Given the description of an element on the screen output the (x, y) to click on. 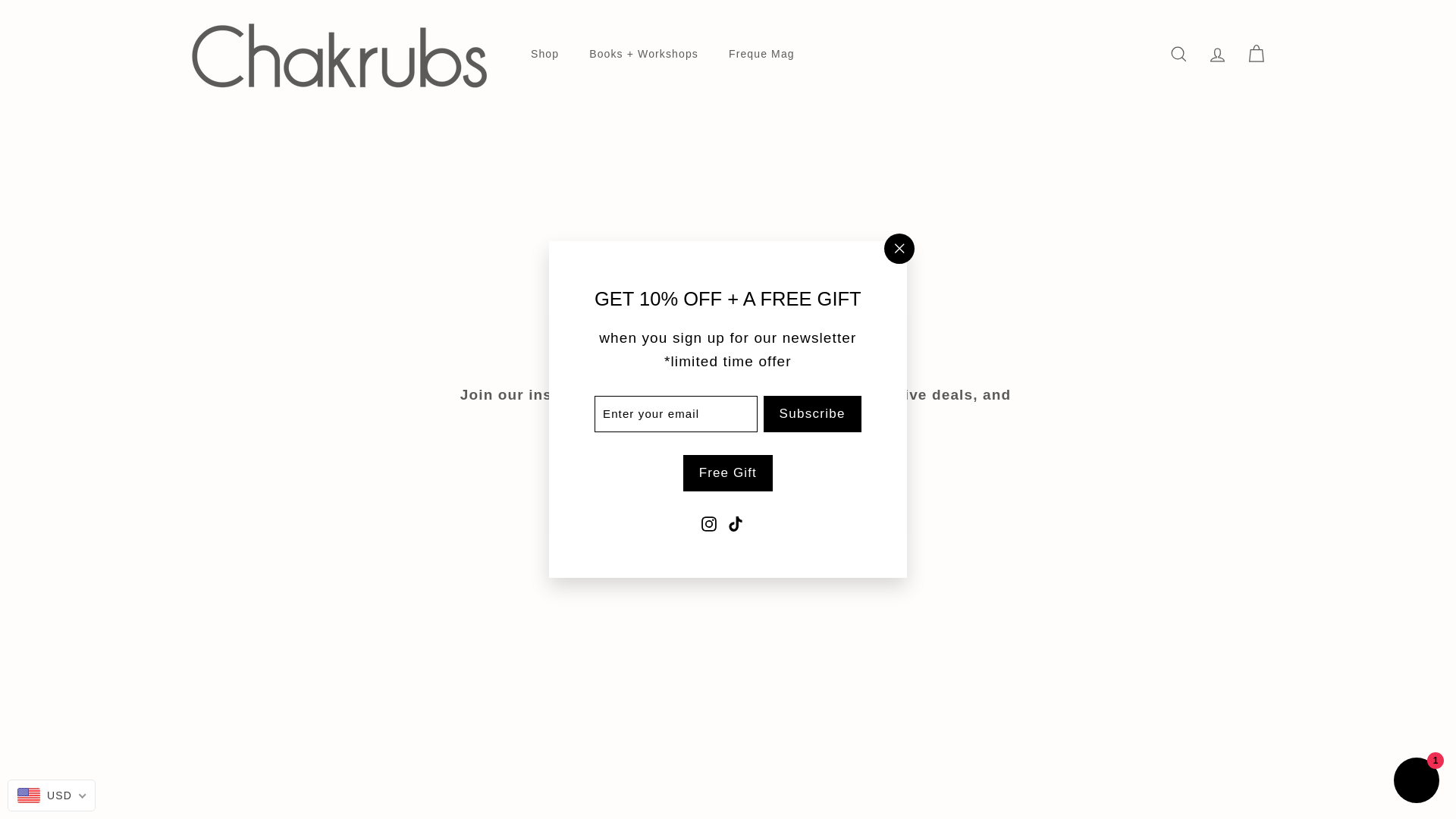
Instagram (708, 155)
instagram (830, 677)
Subscribe (811, 46)
Chakrubs on TikTok (735, 155)
Free Gift (727, 105)
Shopify online store chat (1416, 414)
Chakrubs on Instagram (708, 155)
Chakrubs on Instagram (830, 676)
